Given the description of an element on the screen output the (x, y) to click on. 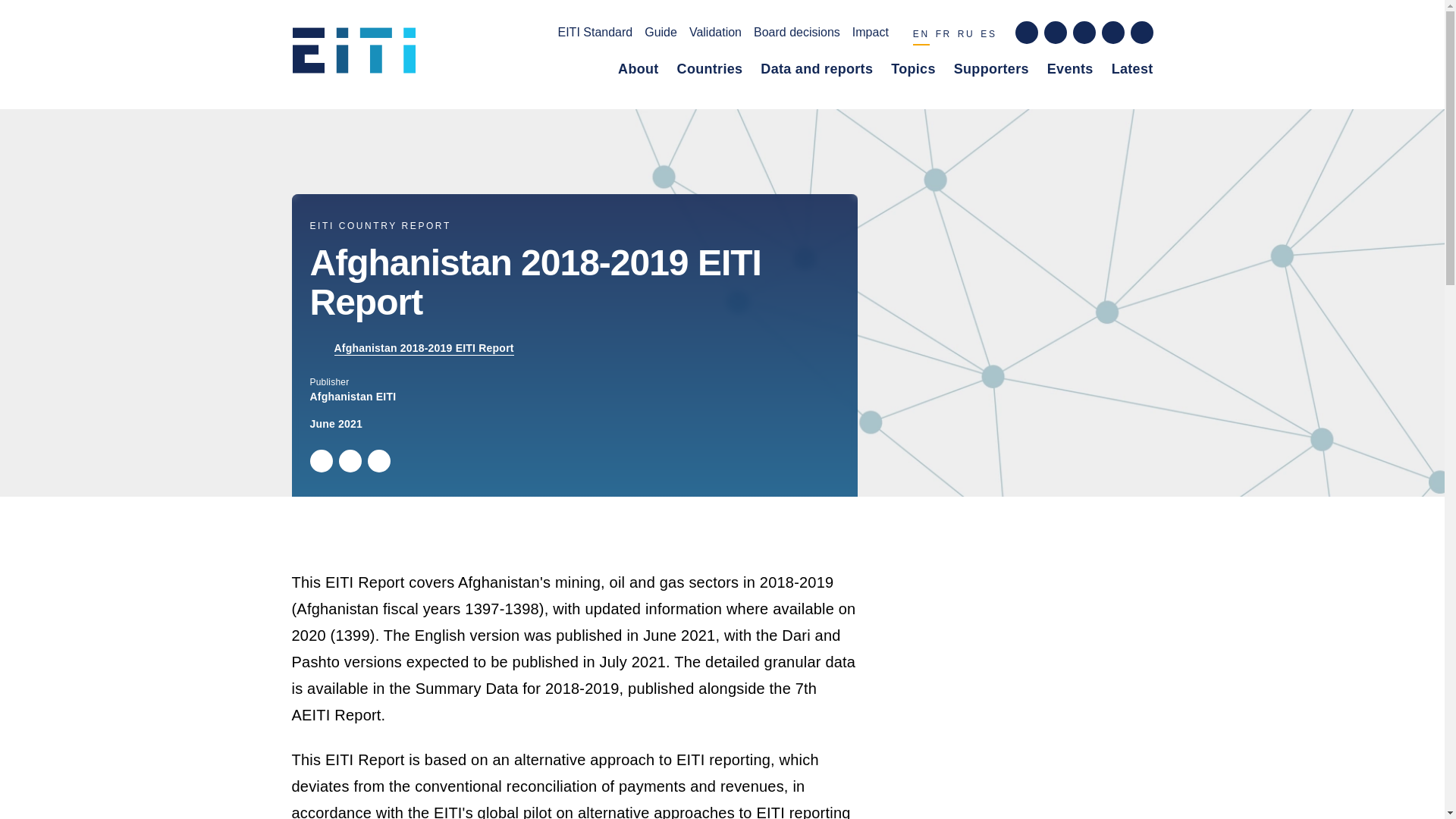
Find us on Facebook (1025, 32)
Linkedin (378, 460)
About (638, 71)
Validation (714, 35)
Guide (661, 35)
Impact (869, 35)
EN (921, 36)
Follow us on Linkedin (1082, 32)
ES (987, 36)
Facebook (349, 460)
